Given the description of an element on the screen output the (x, y) to click on. 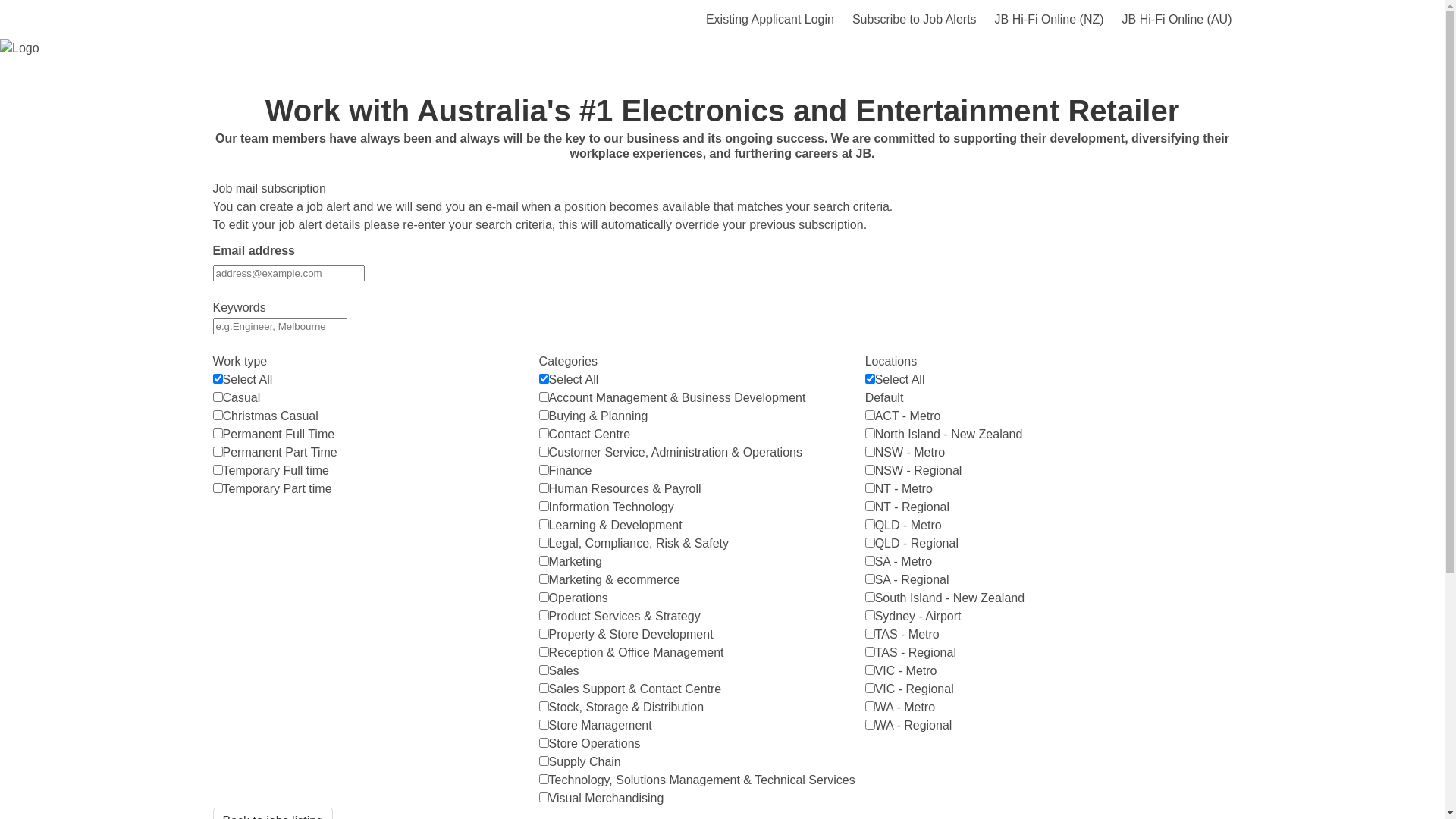
Existing Applicant Login Element type: text (769, 19)
JB Hi-Fi Online (AU) Element type: text (1177, 19)
JB Hi-Fi Online (NZ) Element type: text (1049, 19)
Subscribe to Job Alerts Element type: text (914, 19)
